Given the description of an element on the screen output the (x, y) to click on. 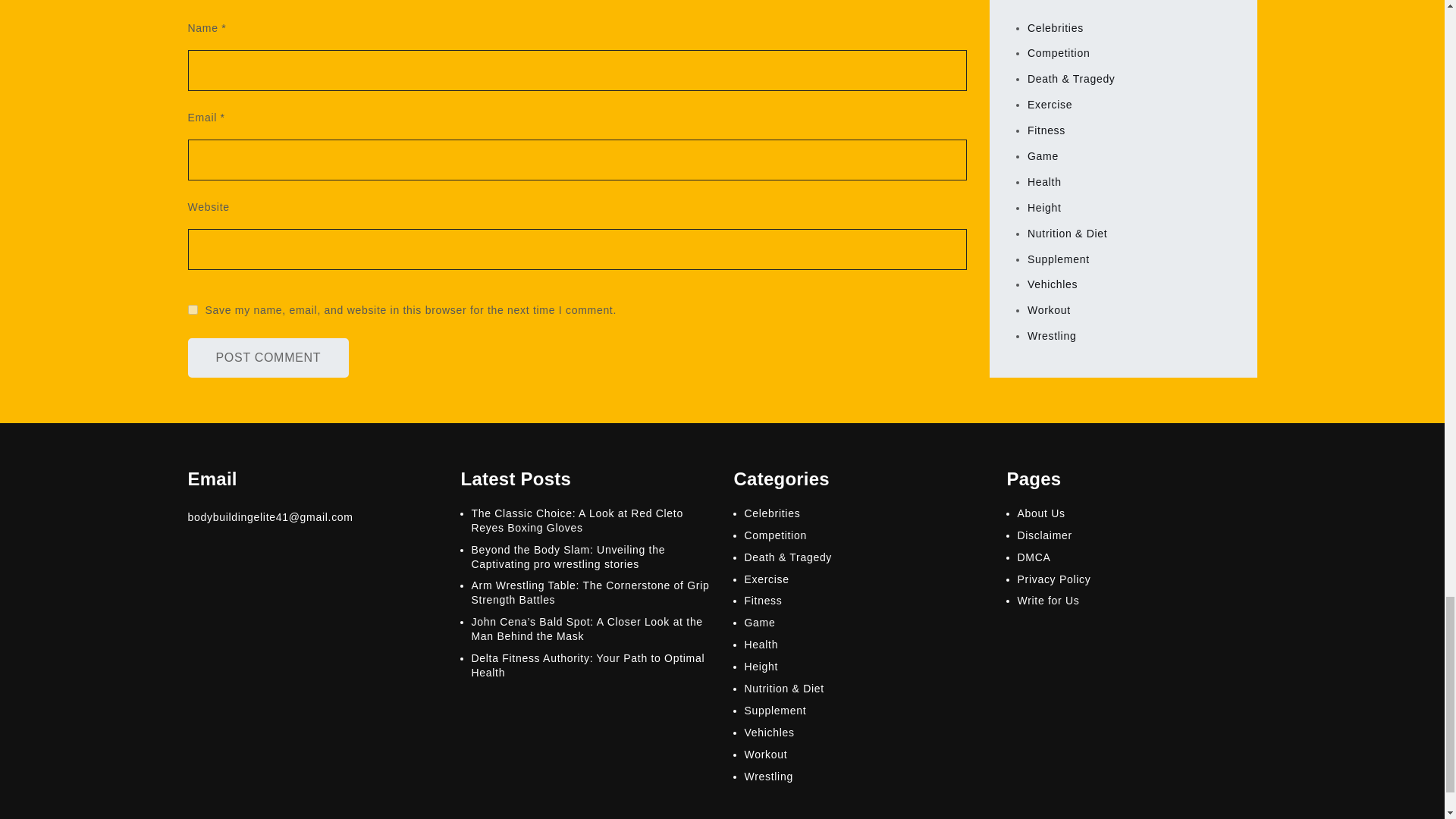
Post Comment (268, 357)
yes (192, 309)
Post Comment (268, 357)
